Given the description of an element on the screen output the (x, y) to click on. 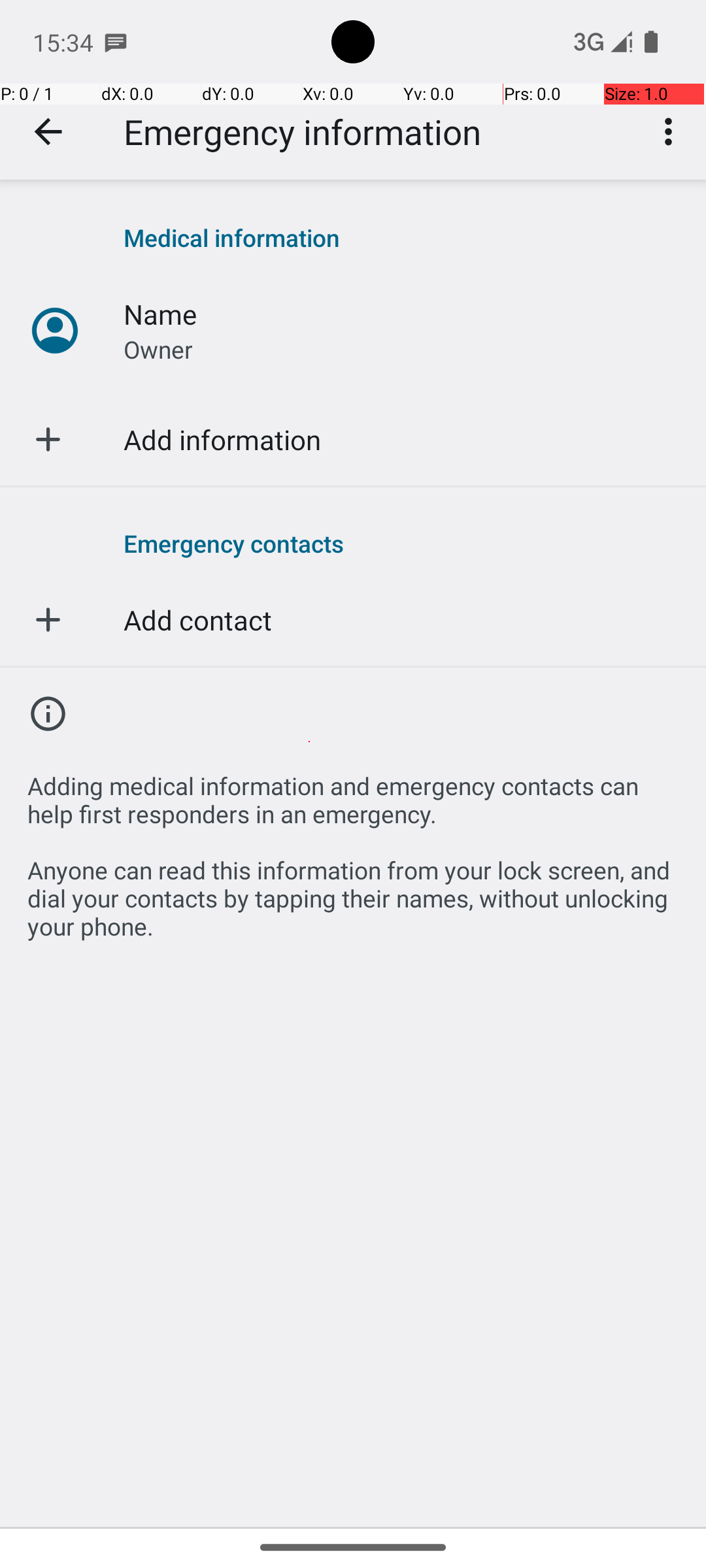
Emergency information Element type: android.widget.TextView (302, 131)
Medical information Element type: android.widget.TextView (400, 237)
Owner Element type: android.widget.TextView (157, 348)
Add information Element type: android.widget.TextView (221, 438)
Emergency contacts Element type: android.widget.TextView (400, 542)
Add contact Element type: android.widget.TextView (197, 619)
Adding medical information and emergency contacts can help first responders in an emergency.

Anyone can read this information from your lock screen, and dial your contacts by tapping their names, without unlocking your phone. Element type: android.widget.TextView (352, 848)
